Given the description of an element on the screen output the (x, y) to click on. 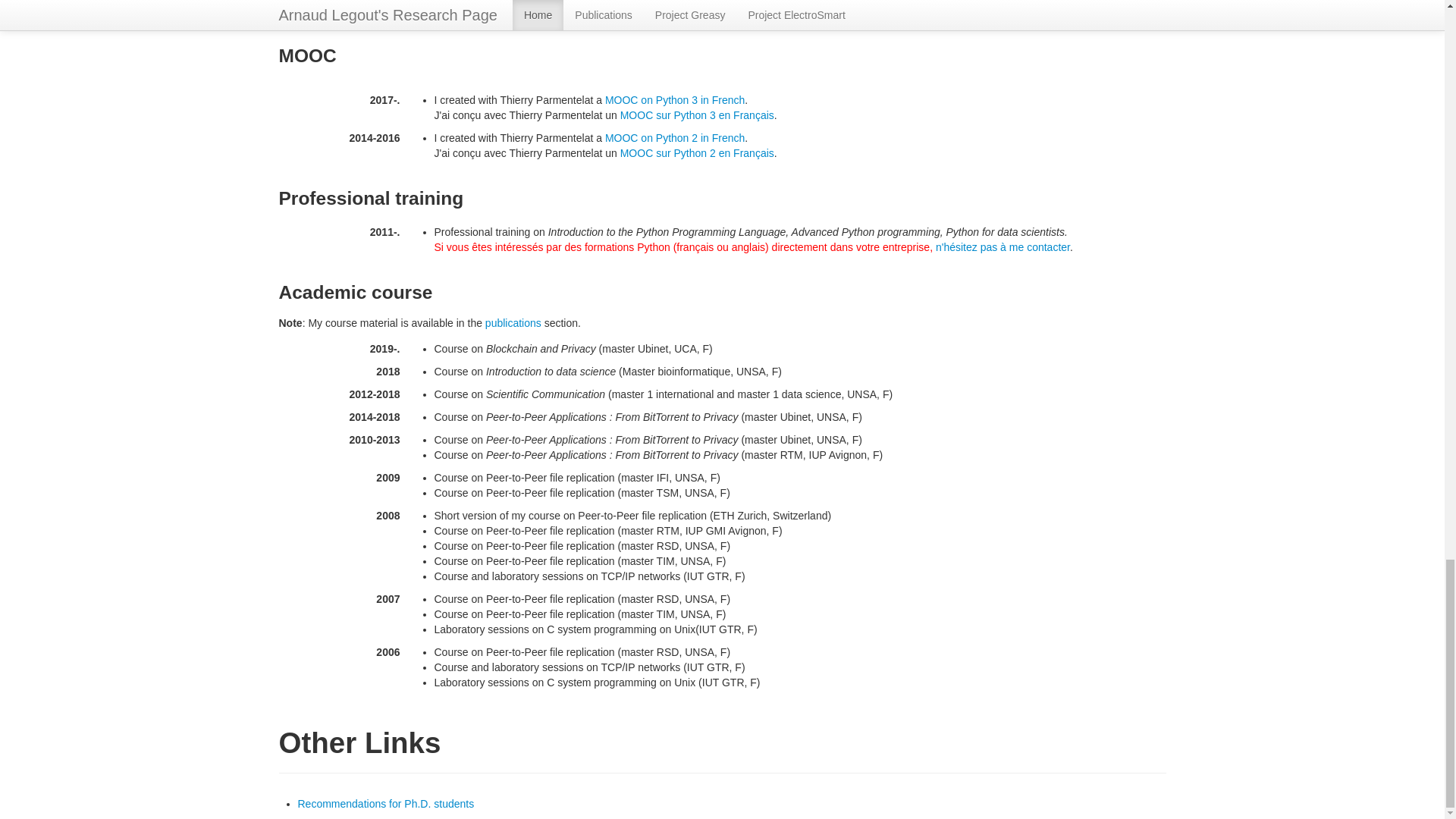
MOOC on Python 3 in French (674, 100)
